Given the description of an element on the screen output the (x, y) to click on. 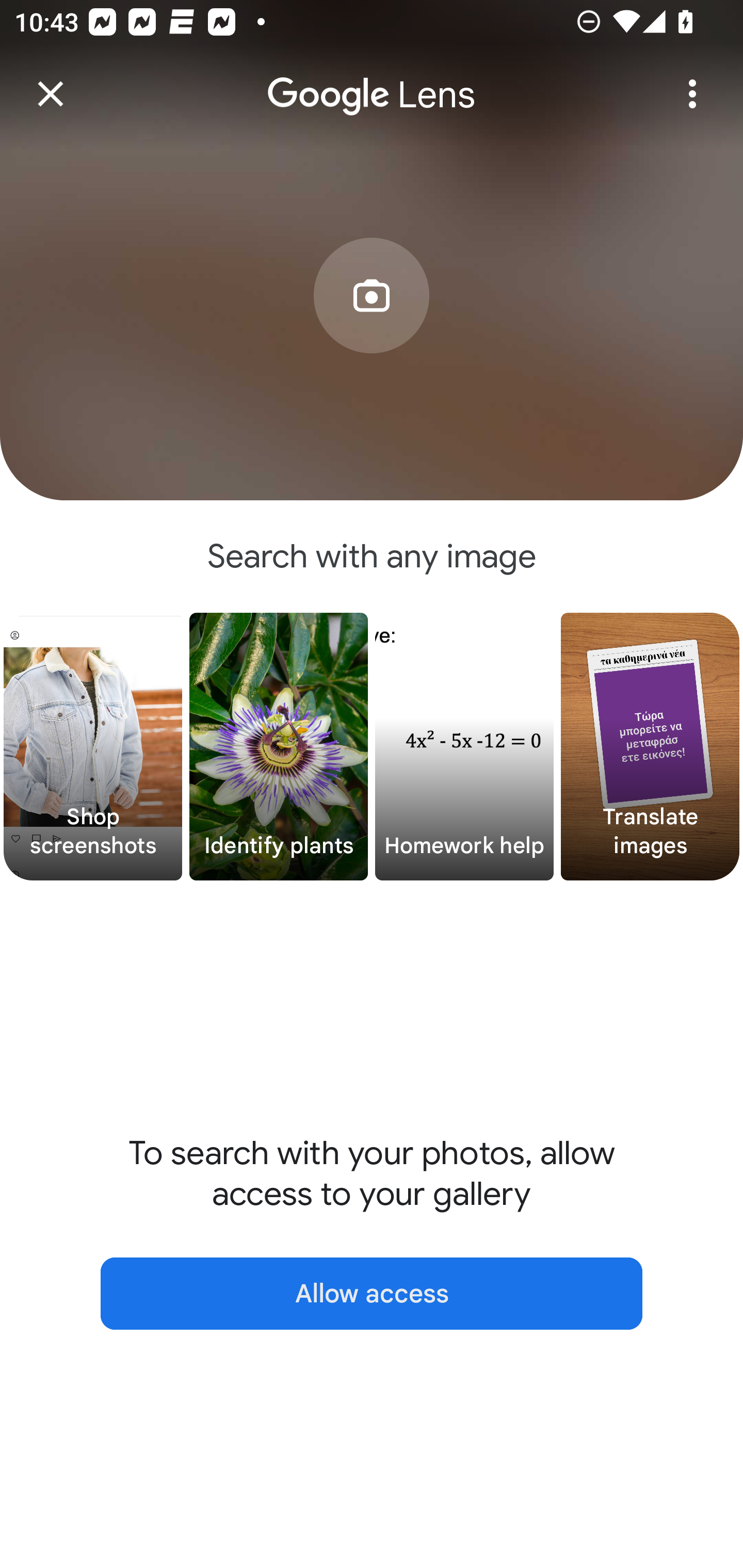
Google Lens Lens (371, 80)
Close (50, 94)
More options (692, 94)
Search with your camera (371, 326)
Shop screenshots (92, 747)
Identify plants (278, 747)
Homework help (464, 747)
Translate images (649, 747)
Allow access (371, 1293)
